Given the description of an element on the screen output the (x, y) to click on. 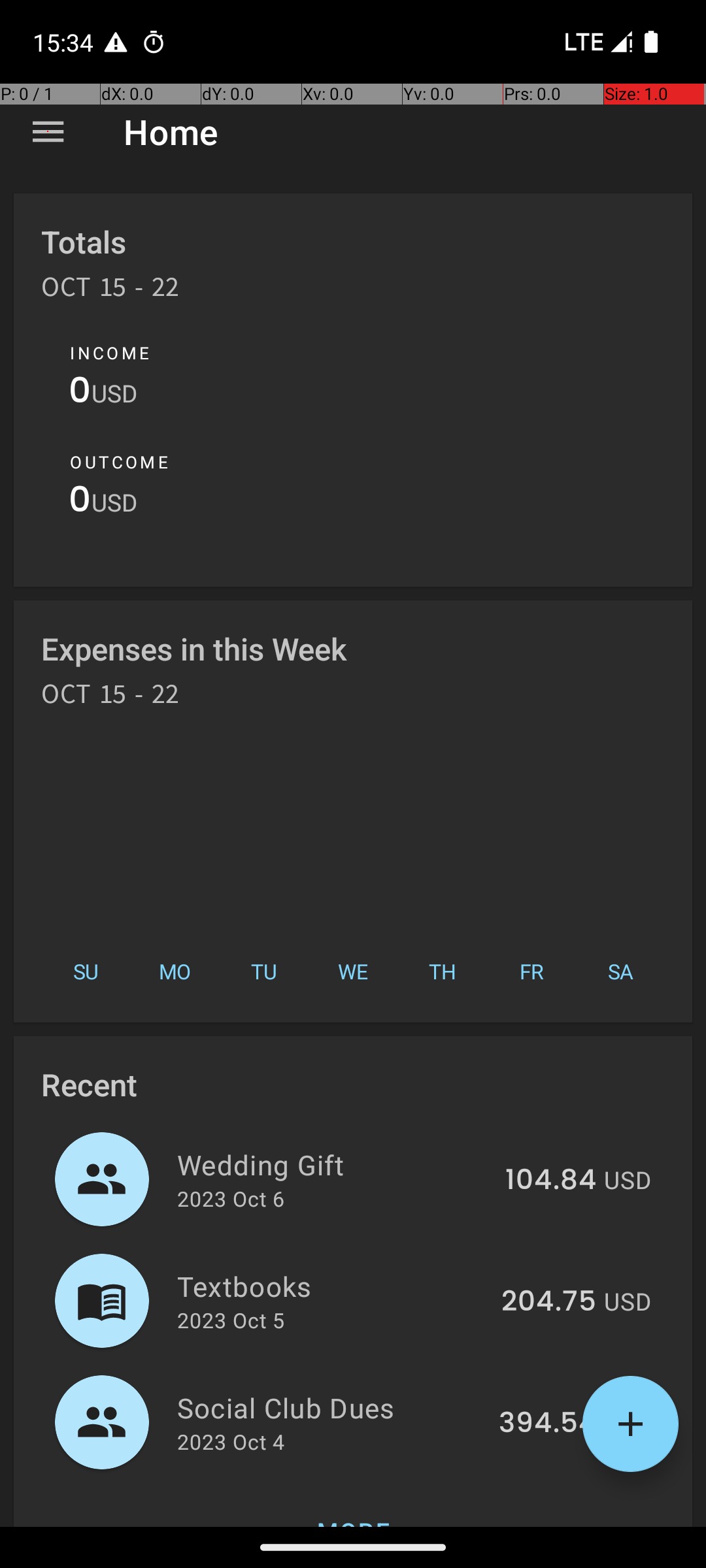
MORE Element type: android.widget.Button (352, 1504)
Wedding Gift Element type: android.widget.TextView (333, 1164)
2023 Oct 6 Element type: android.widget.TextView (230, 1198)
104.84 Element type: android.widget.TextView (550, 1180)
Textbooks Element type: android.widget.TextView (331, 1285)
2023 Oct 5 Element type: android.widget.TextView (230, 1320)
204.75 Element type: android.widget.TextView (548, 1301)
Social Club Dues Element type: android.widget.TextView (330, 1407)
2023 Oct 4 Element type: android.widget.TextView (230, 1441)
394.54 Element type: android.widget.TextView (547, 1423)
